Given the description of an element on the screen output the (x, y) to click on. 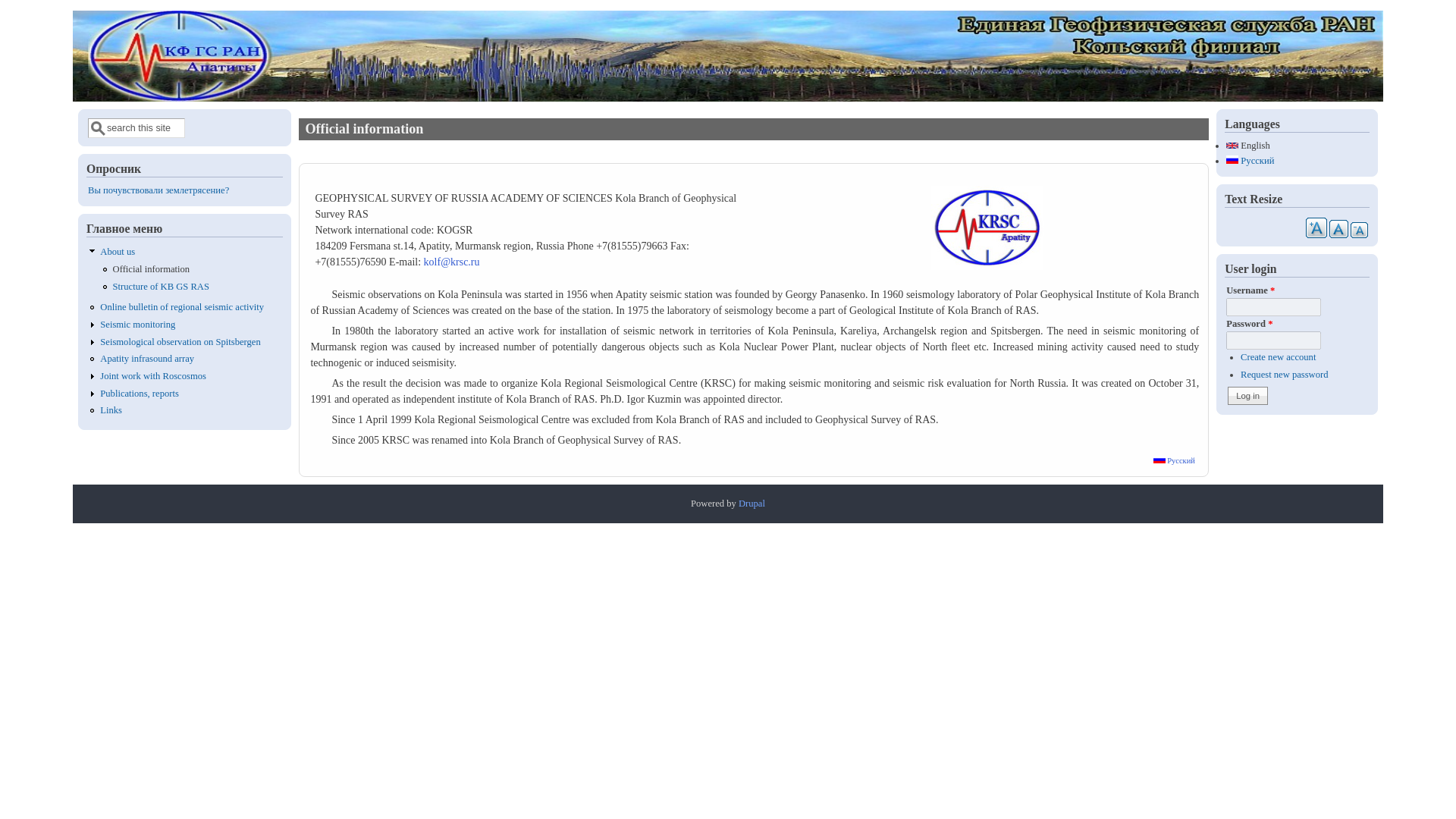
Publications, reports (139, 393)
Create new account (1278, 357)
Online bulletin of regional seismic activity (181, 307)
Official information (151, 268)
Links (111, 409)
A (1359, 229)
Seismological observation on Spitsbergen (180, 341)
search this site (135, 127)
Joint work with Roscosmos (153, 376)
